Given the description of an element on the screen output the (x, y) to click on. 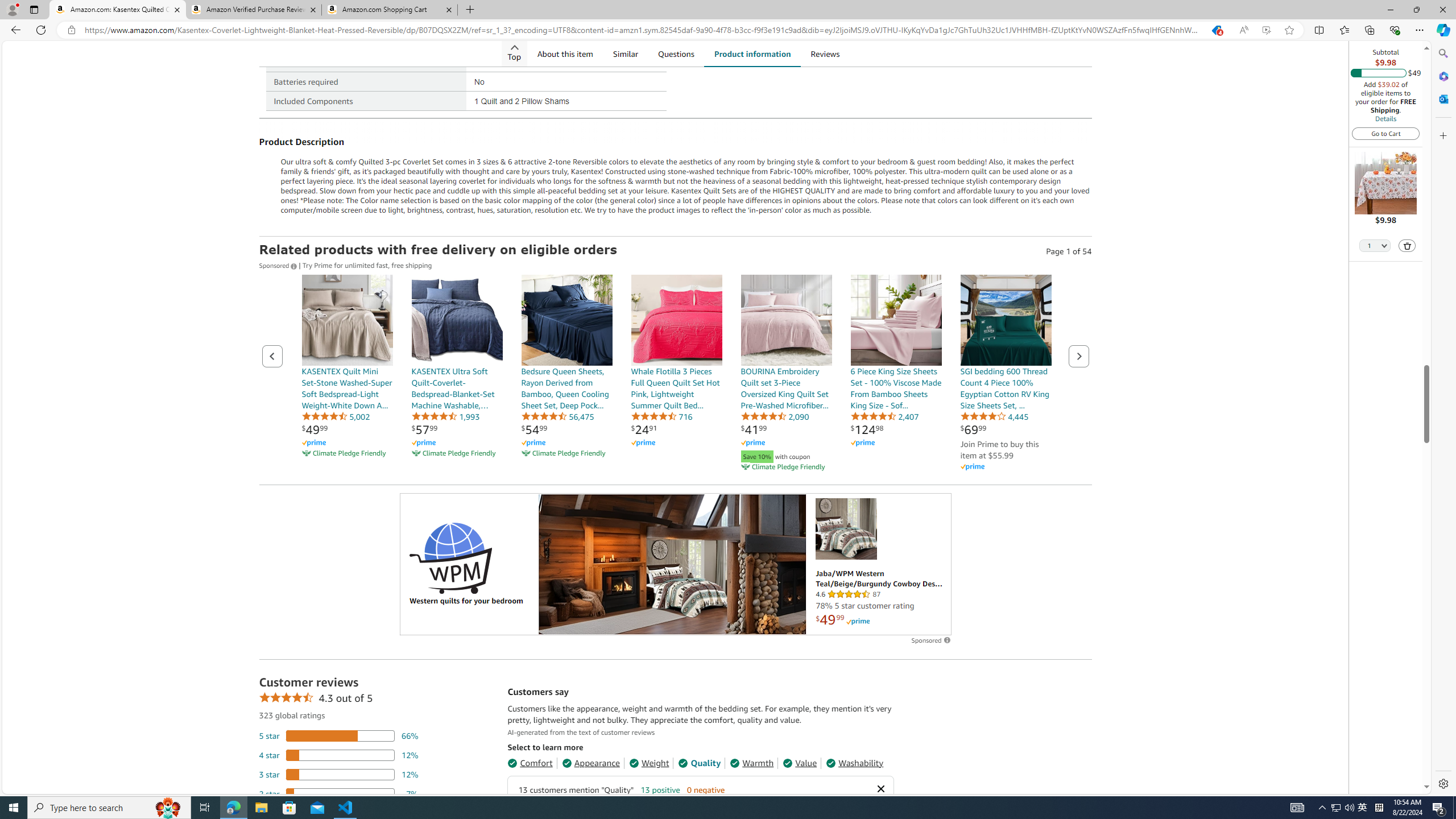
716$24.91 (676, 373)
$49.99 (314, 429)
Value (799, 762)
$24.91 (644, 429)
716 (661, 416)
Sponsored ad (675, 563)
Weight (648, 762)
